Given the description of an element on the screen output the (x, y) to click on. 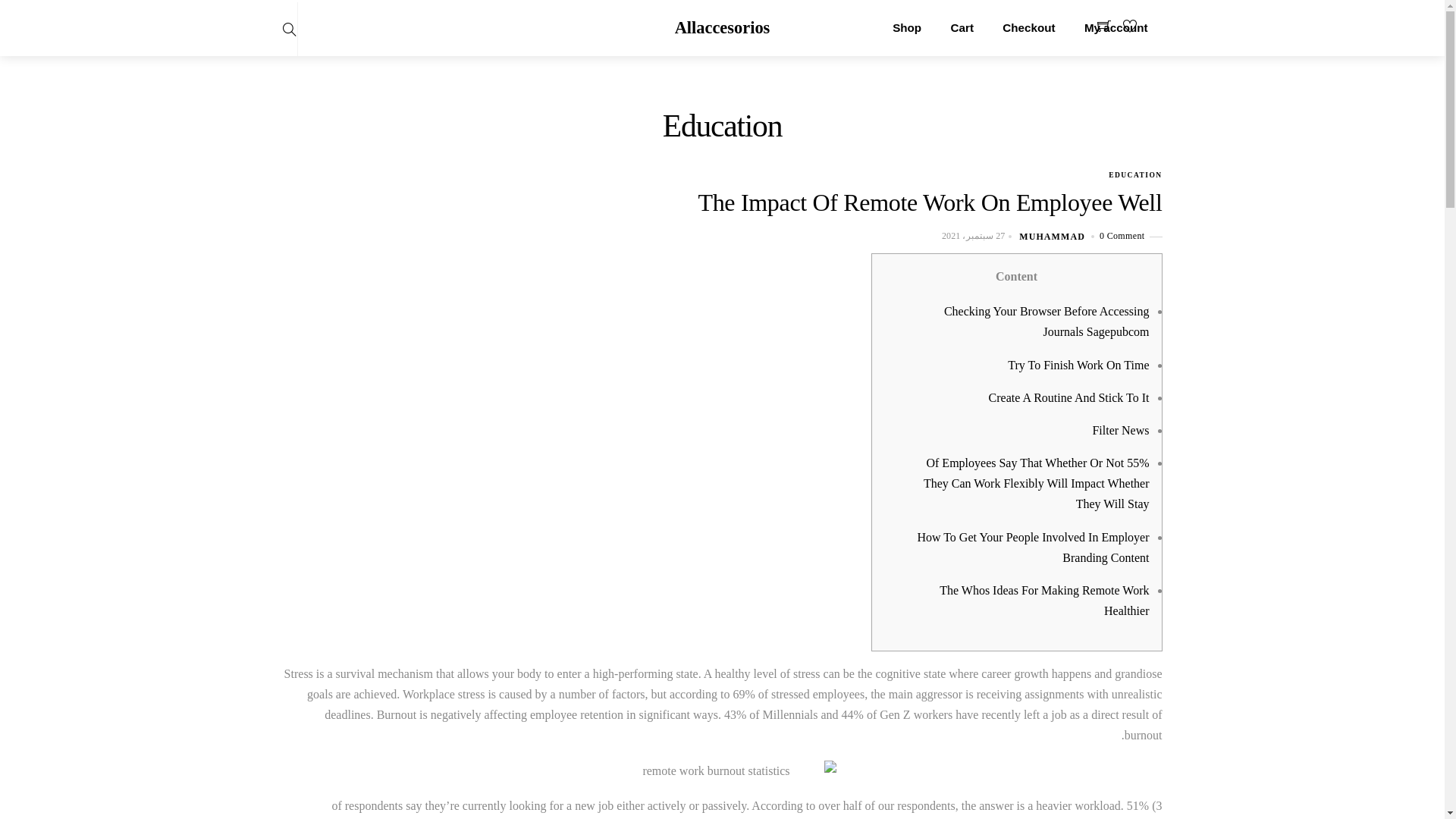
0 Comment (1121, 235)
Allaccesorios (722, 27)
MUHAMMAD (1051, 235)
Checking Your Browser Before Accessing Journals Sagepubcom (1046, 321)
EDUCATION (1134, 175)
Filter News (1120, 430)
Create A Routine And Stick To It (1069, 397)
Shop (906, 28)
Checkout (1029, 28)
How To Get Your People Involved In Employer Branding Content (1032, 547)
Try To Finish Work On Time (1077, 364)
Allaccesorios (722, 27)
My account (1115, 28)
The Impact Of Remote Work On Employee Well (929, 202)
The Whos Ideas For Making Remote Work Healthier (1043, 600)
